Given the description of an element on the screen output the (x, y) to click on. 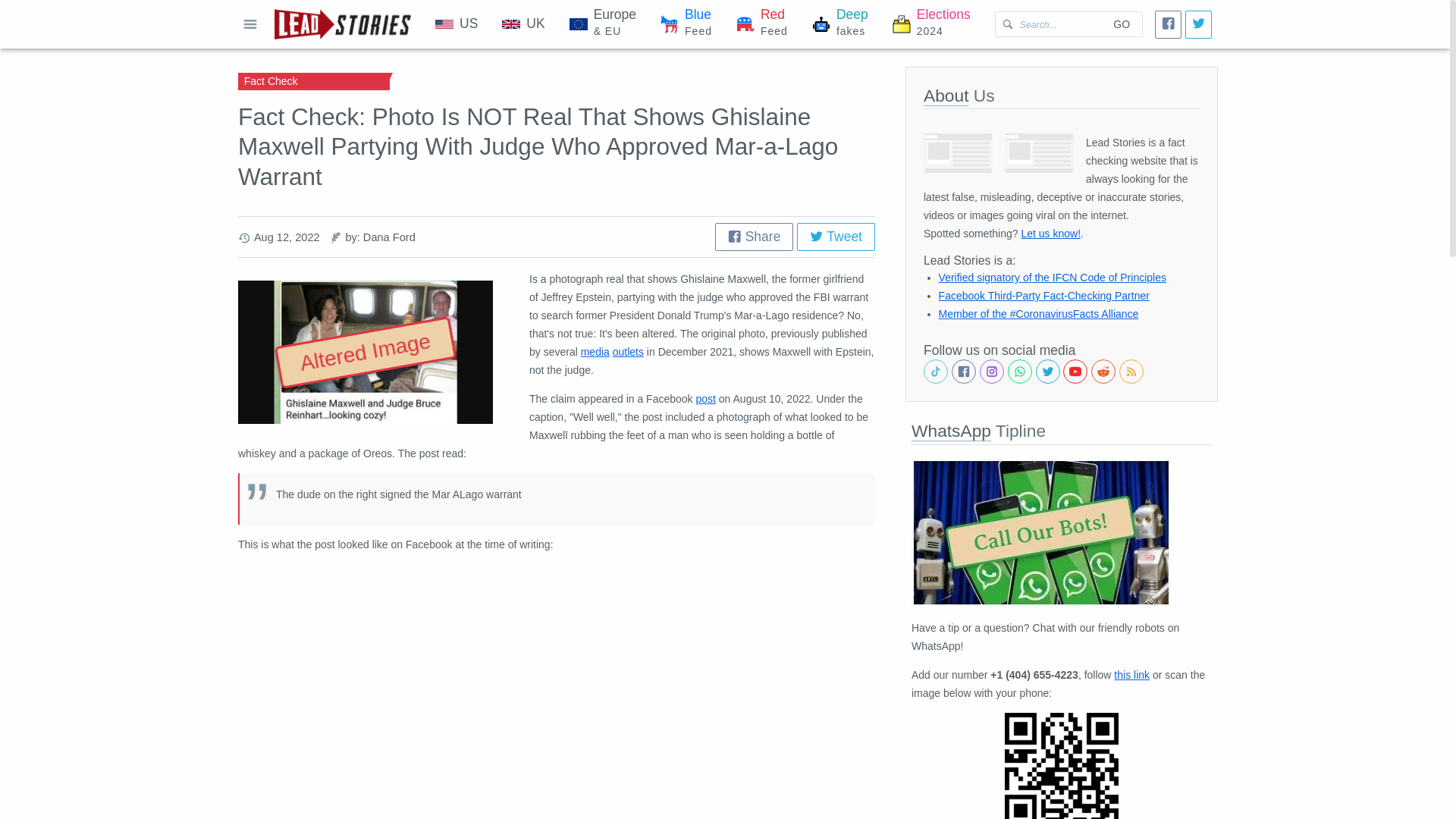
GO (1120, 24)
Let us know! (1050, 233)
UK (839, 24)
outlets (522, 24)
post (627, 351)
media (704, 398)
Tweet (761, 24)
